Given the description of an element on the screen output the (x, y) to click on. 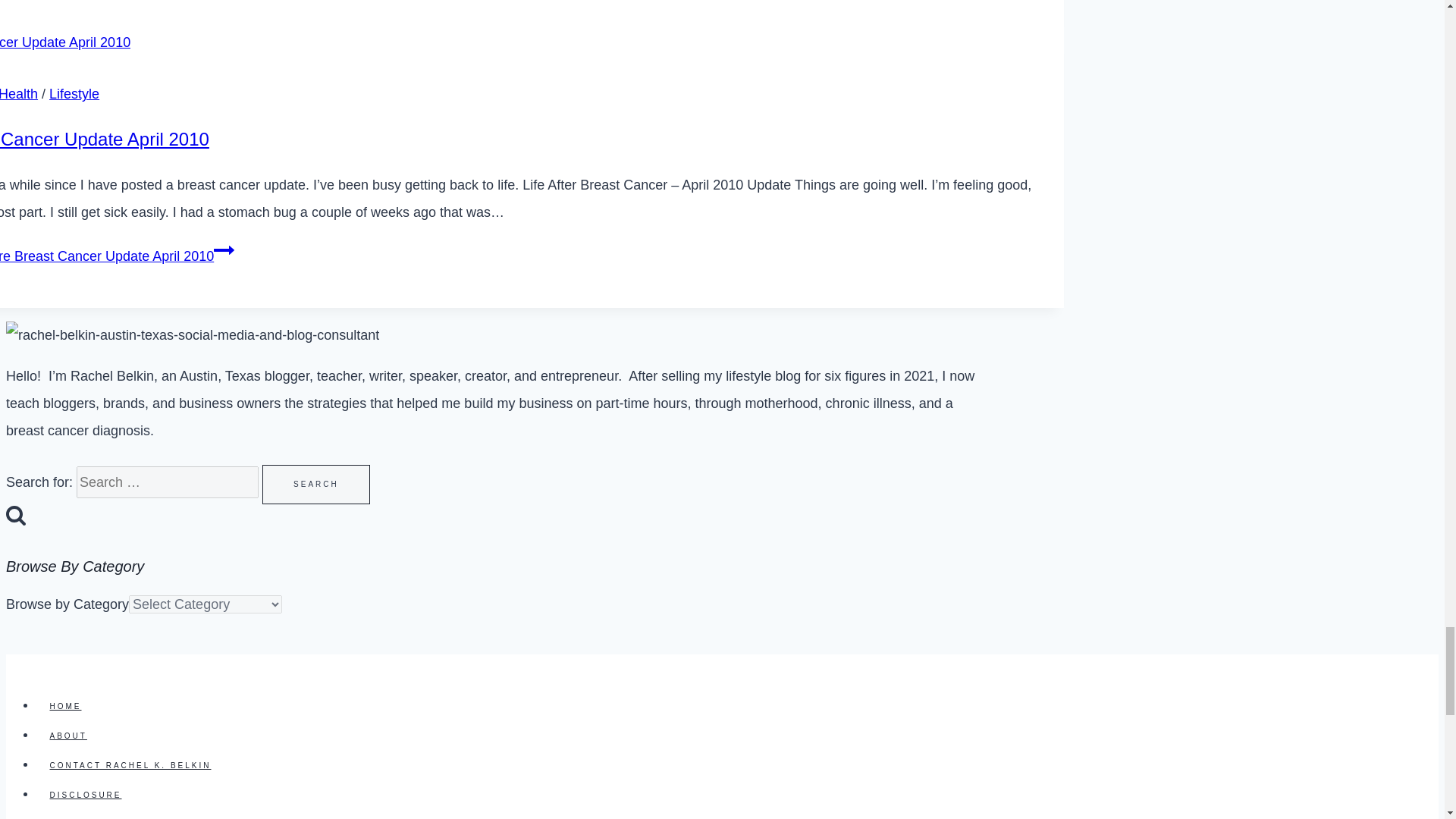
Search (315, 484)
Search (315, 484)
Search (15, 514)
Continue (224, 250)
